Given the description of an element on the screen output the (x, y) to click on. 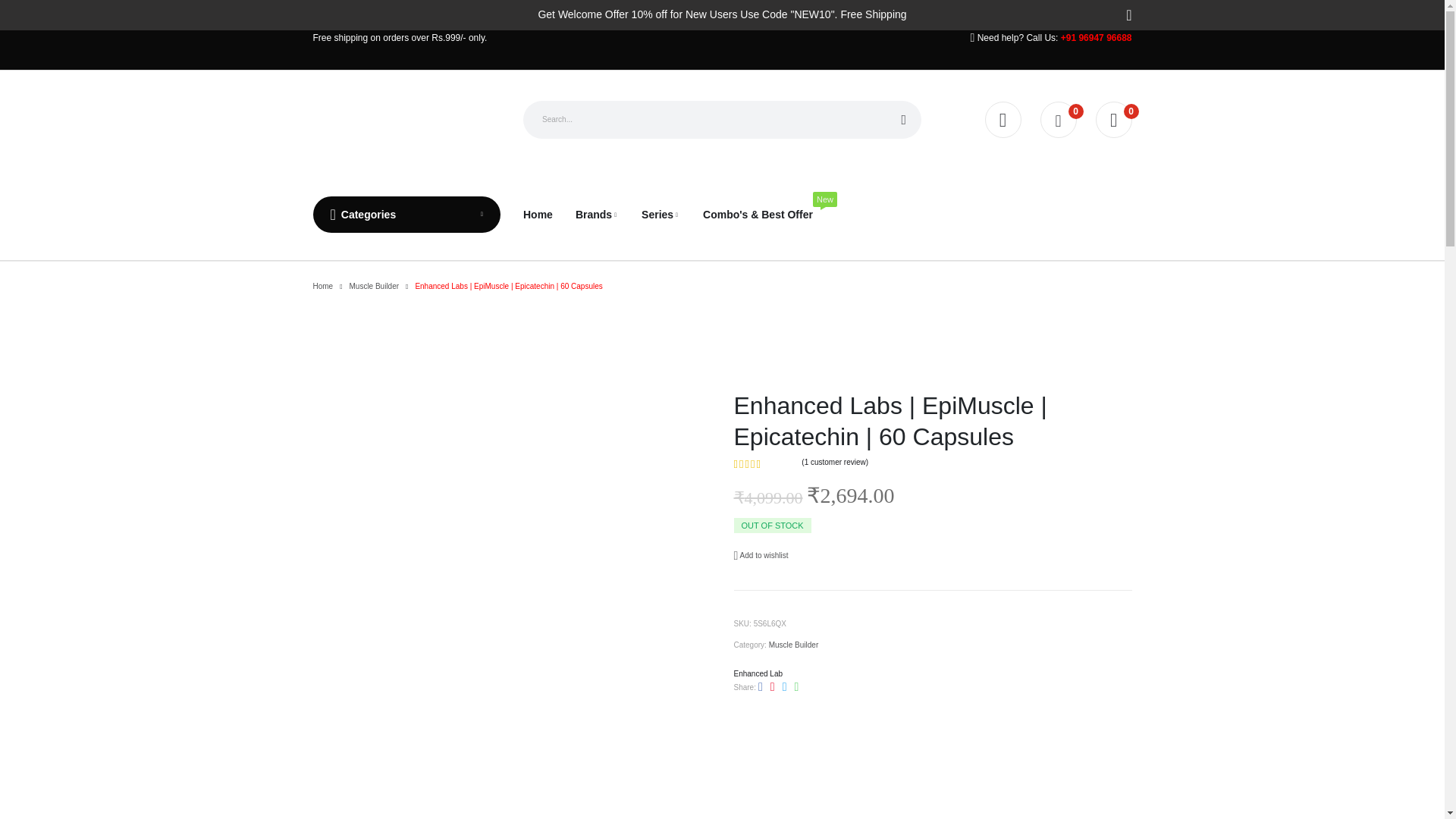
Brands (596, 214)
0 (1112, 119)
0 (1059, 119)
